Given the description of an element on the screen output the (x, y) to click on. 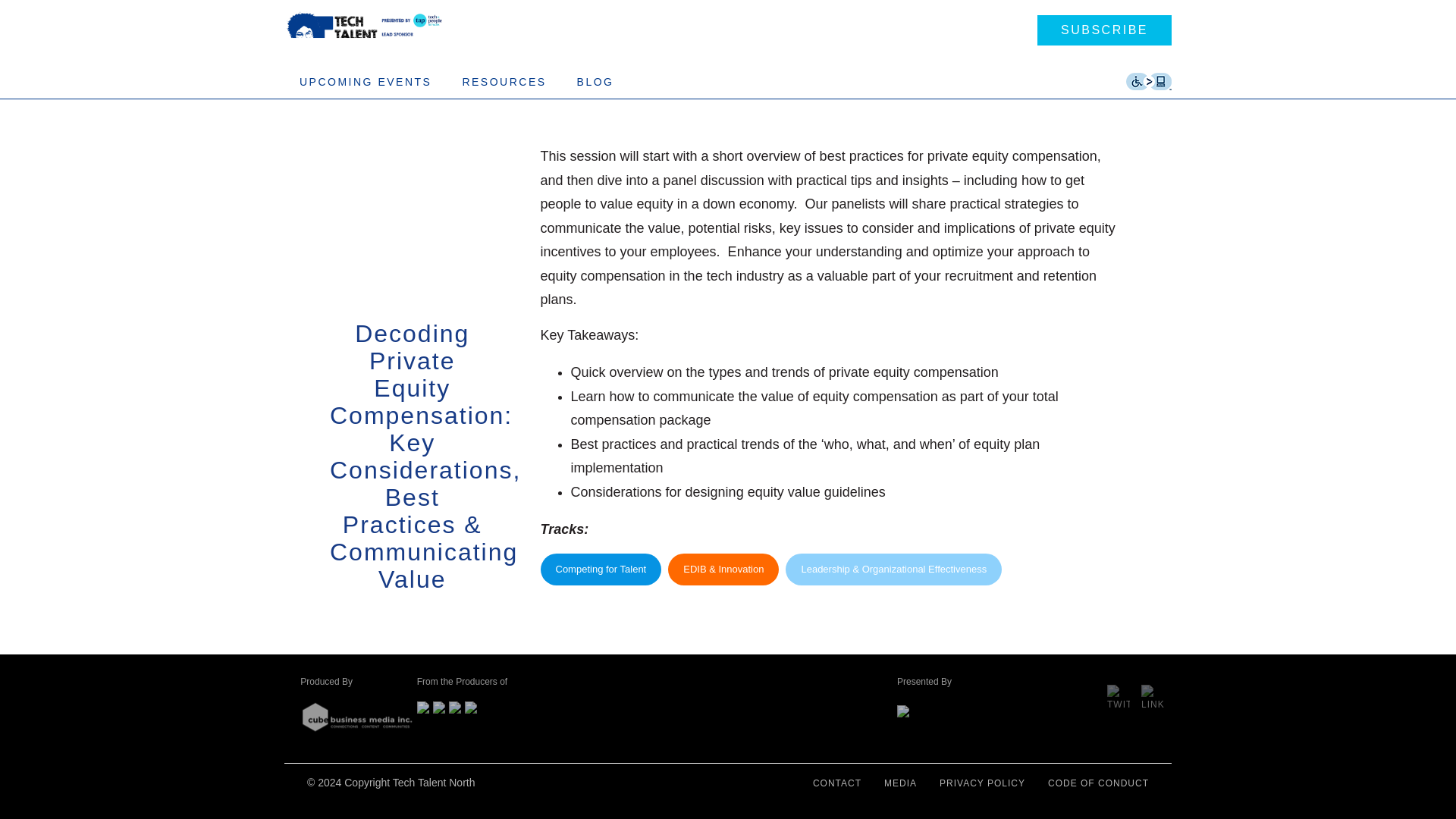
BLOG (595, 81)
CODE OF CONDUCT (1098, 783)
MEDIA (900, 783)
RESOURCES (503, 81)
UPCOMING EVENTS (364, 81)
SUBSCRIBE (1104, 30)
CONTACT (836, 783)
PRIVACY POLICY (982, 783)
Competing for Talent (600, 569)
